Given the description of an element on the screen output the (x, y) to click on. 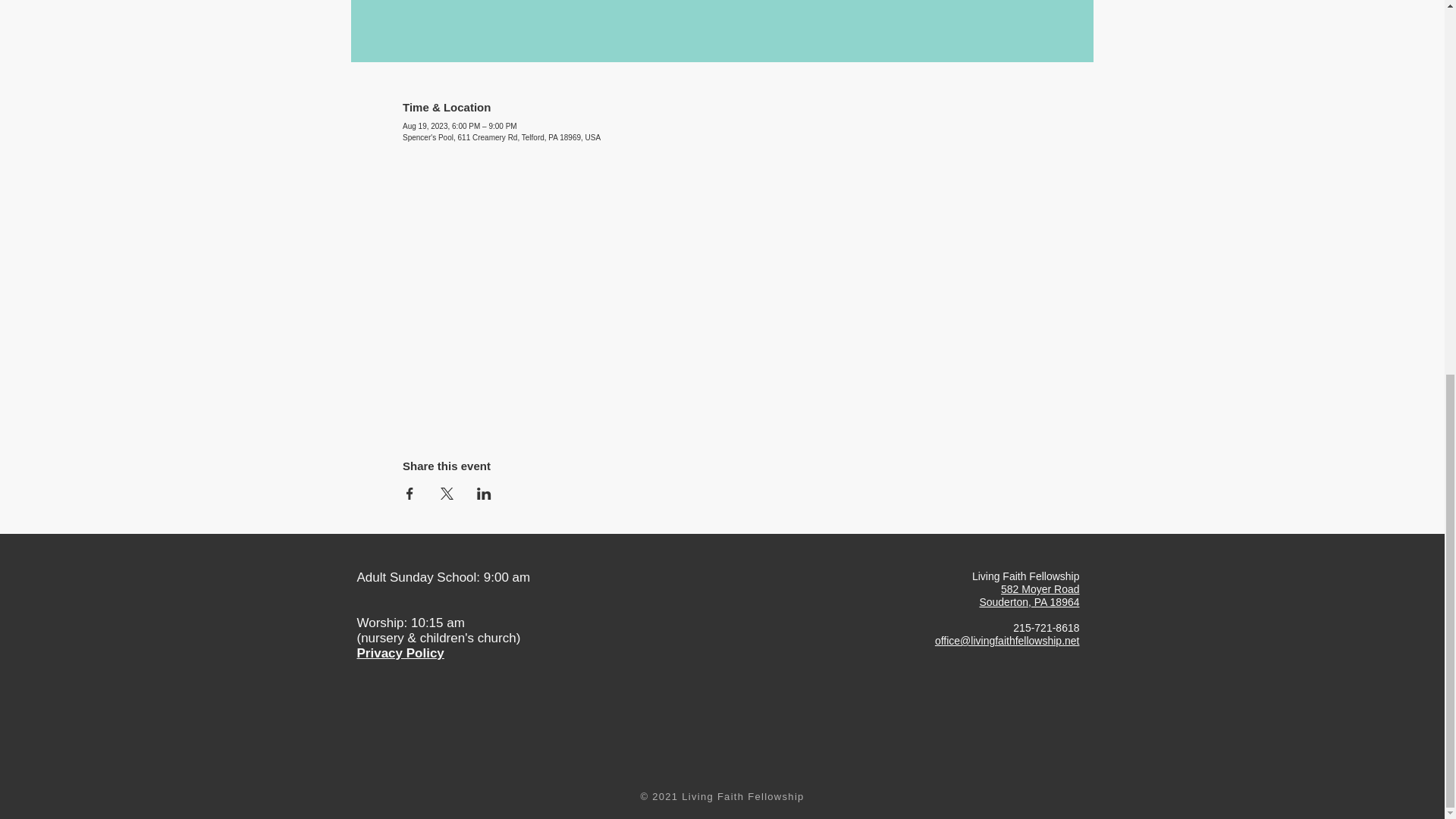
Privacy Policy (400, 653)
